Given the description of an element on the screen output the (x, y) to click on. 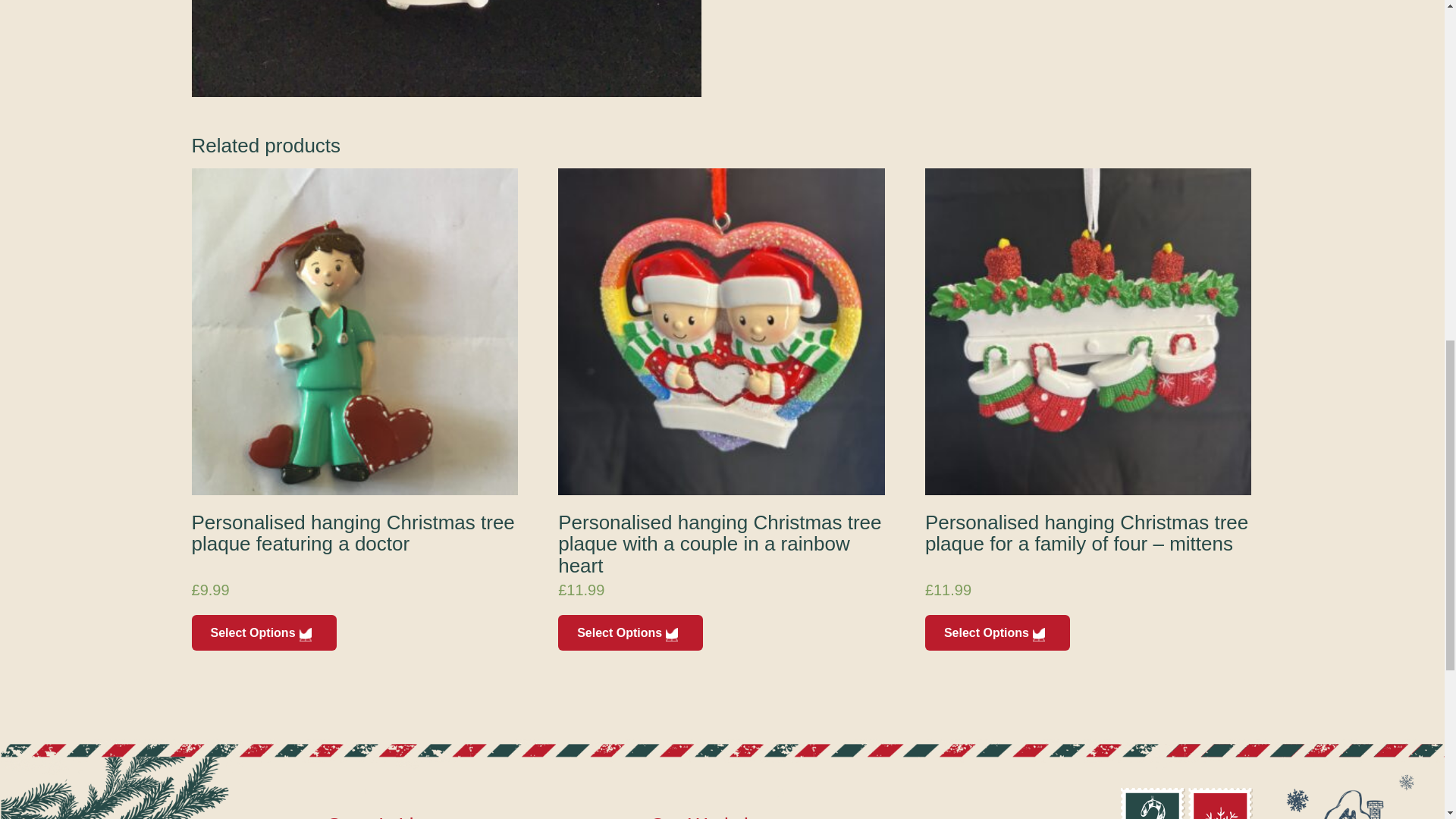
Select Options (630, 632)
Select Options (263, 632)
Select Options (997, 632)
